Given the description of an element on the screen output the (x, y) to click on. 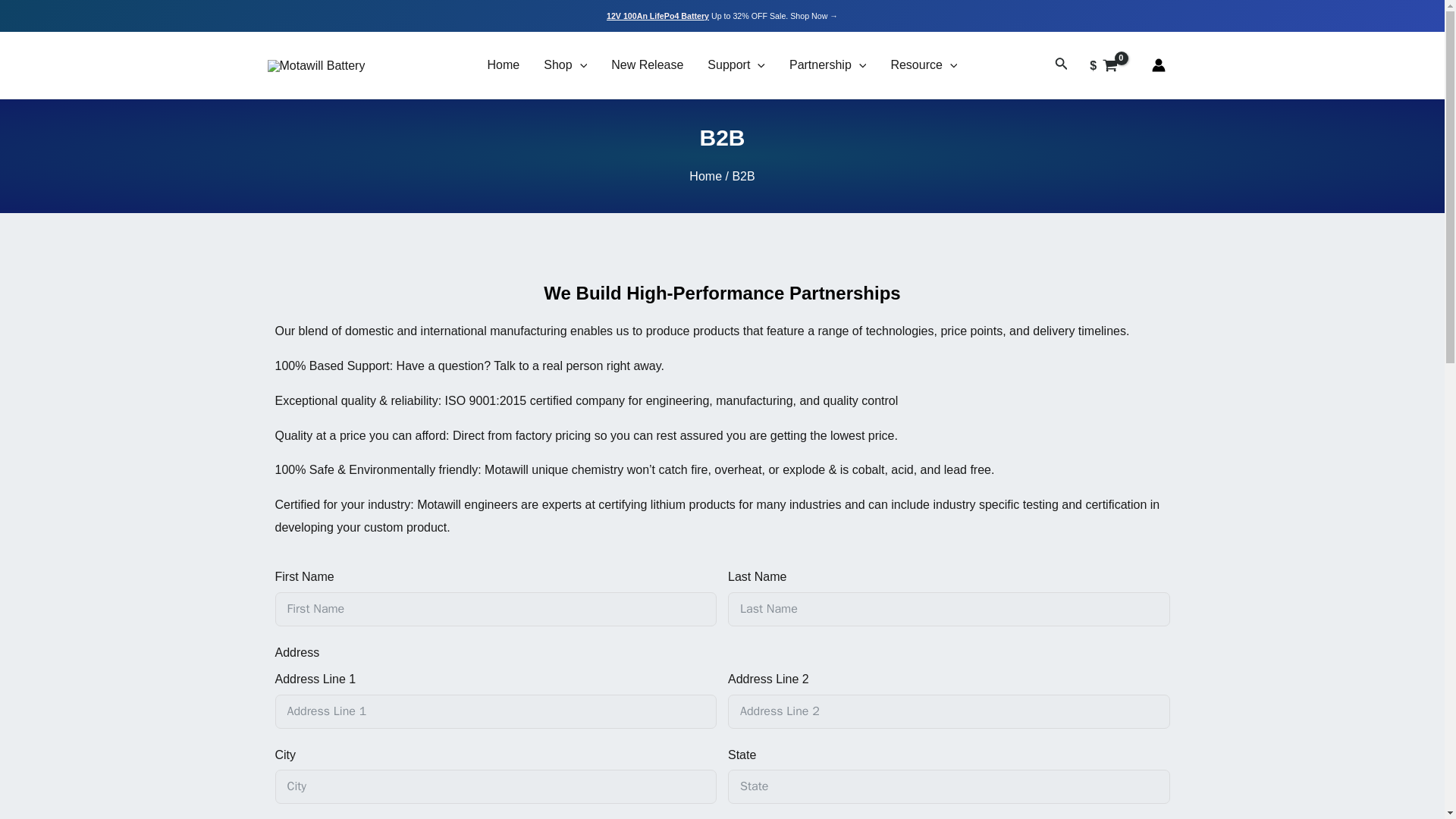
New Release (646, 64)
Support (736, 64)
Partnership (827, 64)
Shop (564, 64)
Resource (923, 64)
12V 100An LifePo4 Battery (658, 15)
